Given the description of an element on the screen output the (x, y) to click on. 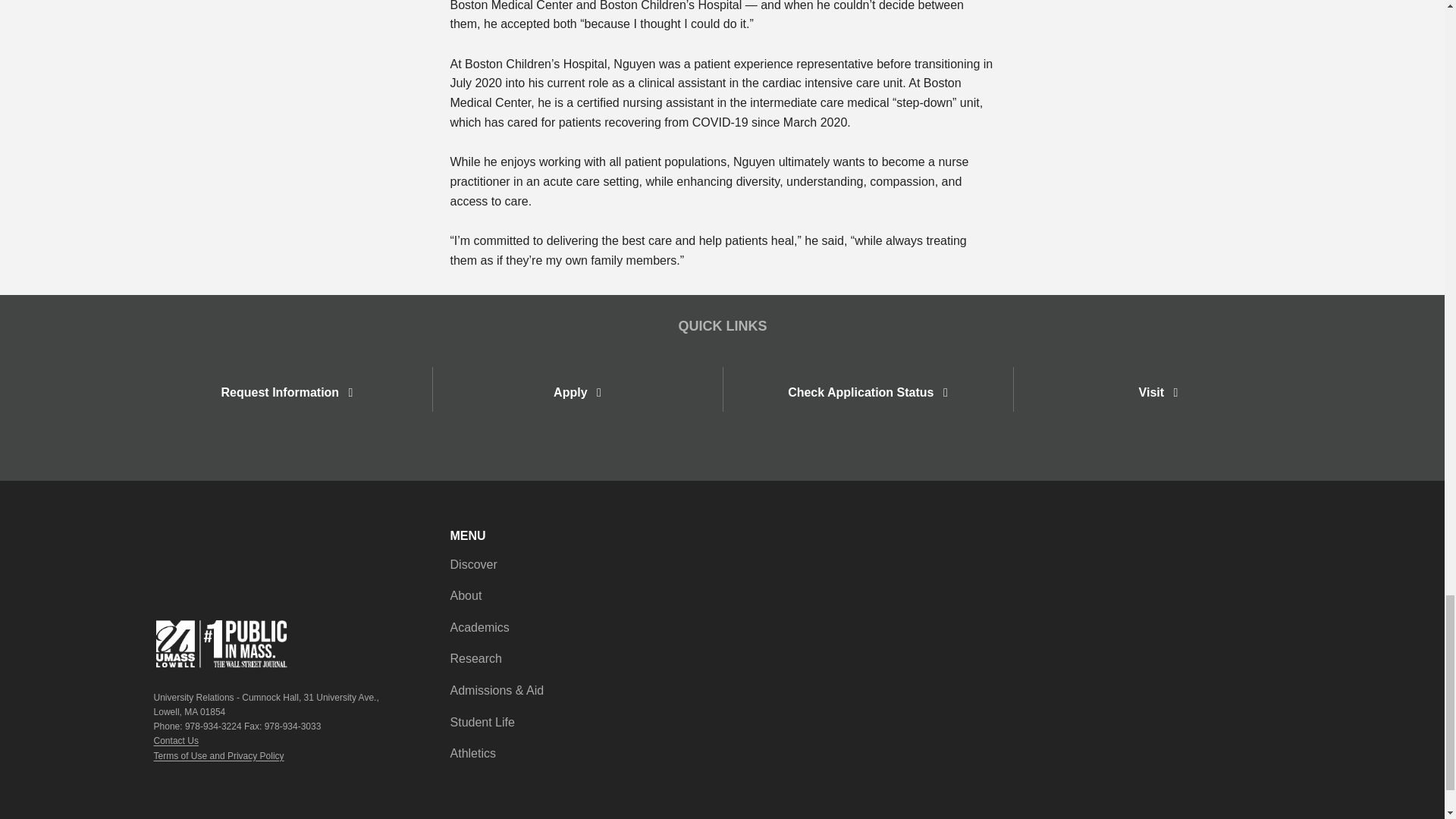
TikTok (1213, 542)
Check Application Status (867, 391)
Twitter (1244, 542)
Apply (577, 391)
Youtube (1259, 542)
Request Information (287, 389)
Facebook (1228, 542)
Visit (1157, 391)
Apply (577, 389)
Linkedin (1290, 542)
Discover (473, 564)
Request Information (286, 391)
Apply (577, 391)
Instagram (1275, 542)
Request Information (286, 391)
